Given the description of an element on the screen output the (x, y) to click on. 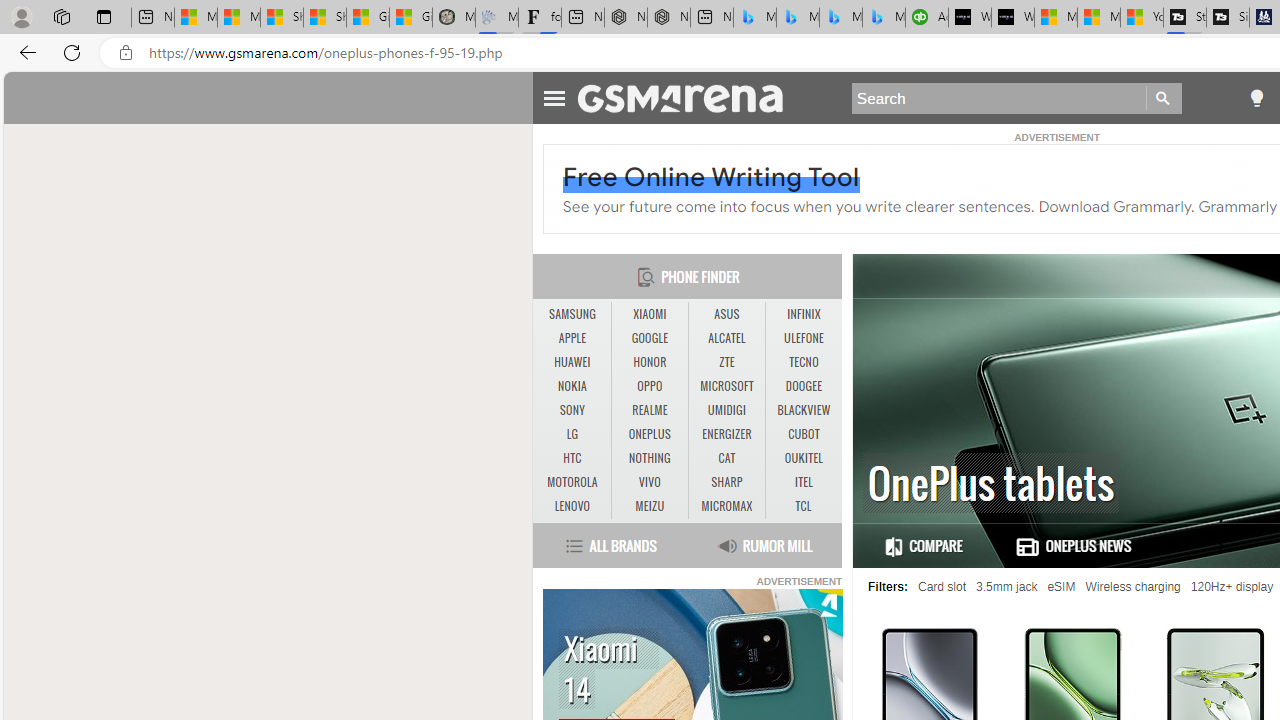
HUAWEI (571, 362)
OUKITEL (803, 458)
UMIDIGI (726, 411)
Card slot (941, 587)
Toggle Navigation (553, 95)
Free Online Writing Tool (711, 177)
OPPO (649, 385)
ALCATEL (726, 338)
ENERGIZER (726, 434)
TCL (803, 506)
